Given the description of an element on the screen output the (x, y) to click on. 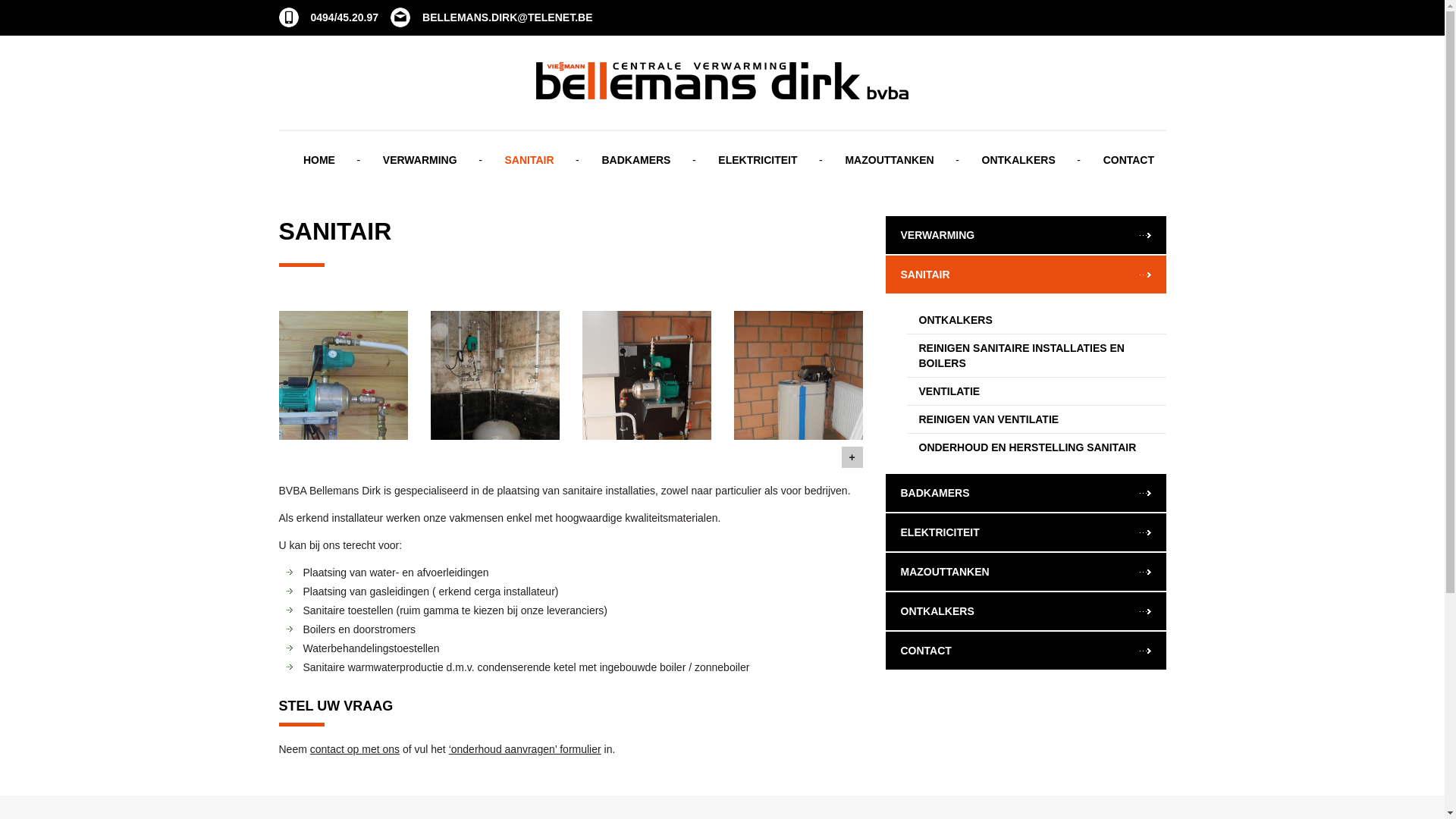
ONTKALKERS Element type: text (1018, 166)
Click to enlarge image Element type: hover (494, 401)
BELLEMANS.DIRK@TELENET.BE Element type: text (491, 17)
CONTACT Element type: text (1124, 166)
ONTKALKERS Element type: text (1036, 319)
CONTACT Element type: text (1025, 650)
REINIGEN SANITAIRE INSTALLATIES EN BOILERS Element type: text (1036, 355)
ELEKTRICITEIT Element type: text (1025, 532)
contact op met ons Element type: text (354, 749)
VERWARMING Element type: text (1025, 235)
HOME Element type: text (319, 166)
SANITAIR Element type: text (1025, 274)
BADKAMERS Element type: text (1025, 492)
VENTILATIE Element type: text (1036, 390)
BADKAMERS Element type: text (635, 166)
0494/45.20.97 Element type: text (329, 17)
ONTKALKERS Element type: text (1025, 611)
ELEKTRICITEIT Element type: text (757, 166)
MAZOUTTANKEN Element type: text (888, 166)
VERWARMING Element type: text (419, 166)
SANITAIR Element type: text (528, 166)
REINIGEN VAN VENTILATIE Element type: text (1036, 419)
Click to enlarge image Element type: hover (798, 401)
ONDERHOUD EN HERSTELLING SANITAIR Element type: text (1036, 447)
Click to enlarge image Element type: hover (343, 401)
MAZOUTTANKEN Element type: text (1025, 571)
Click to enlarge image Element type: hover (646, 401)
